Given the description of an element on the screen output the (x, y) to click on. 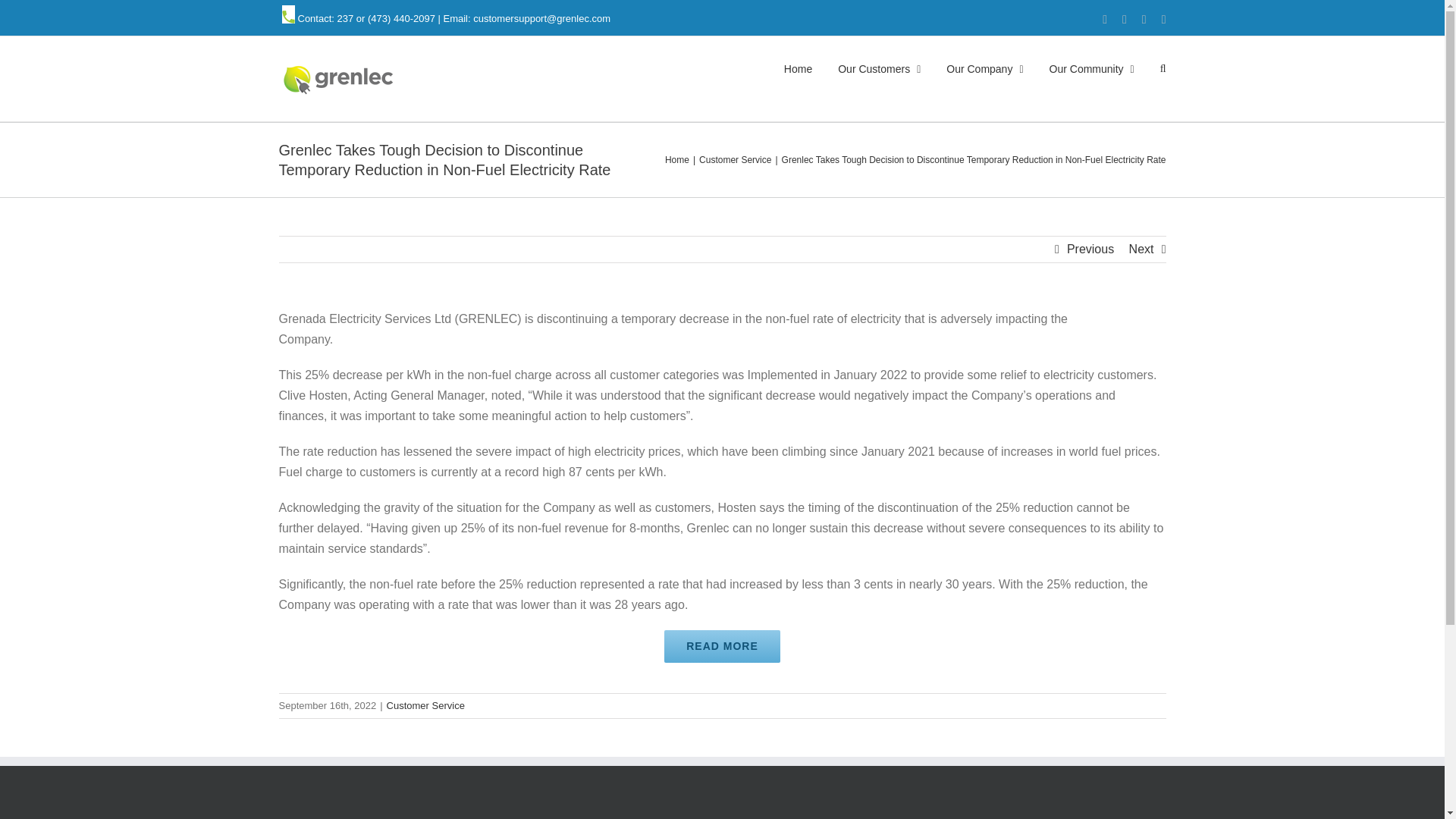
Search (1163, 67)
Our Company (984, 67)
Instagram (1124, 19)
Our Community (1091, 67)
Our Customers (879, 67)
Facebook (1104, 19)
X (1144, 19)
YouTube (1163, 19)
Home (798, 67)
